Given the description of an element on the screen output the (x, y) to click on. 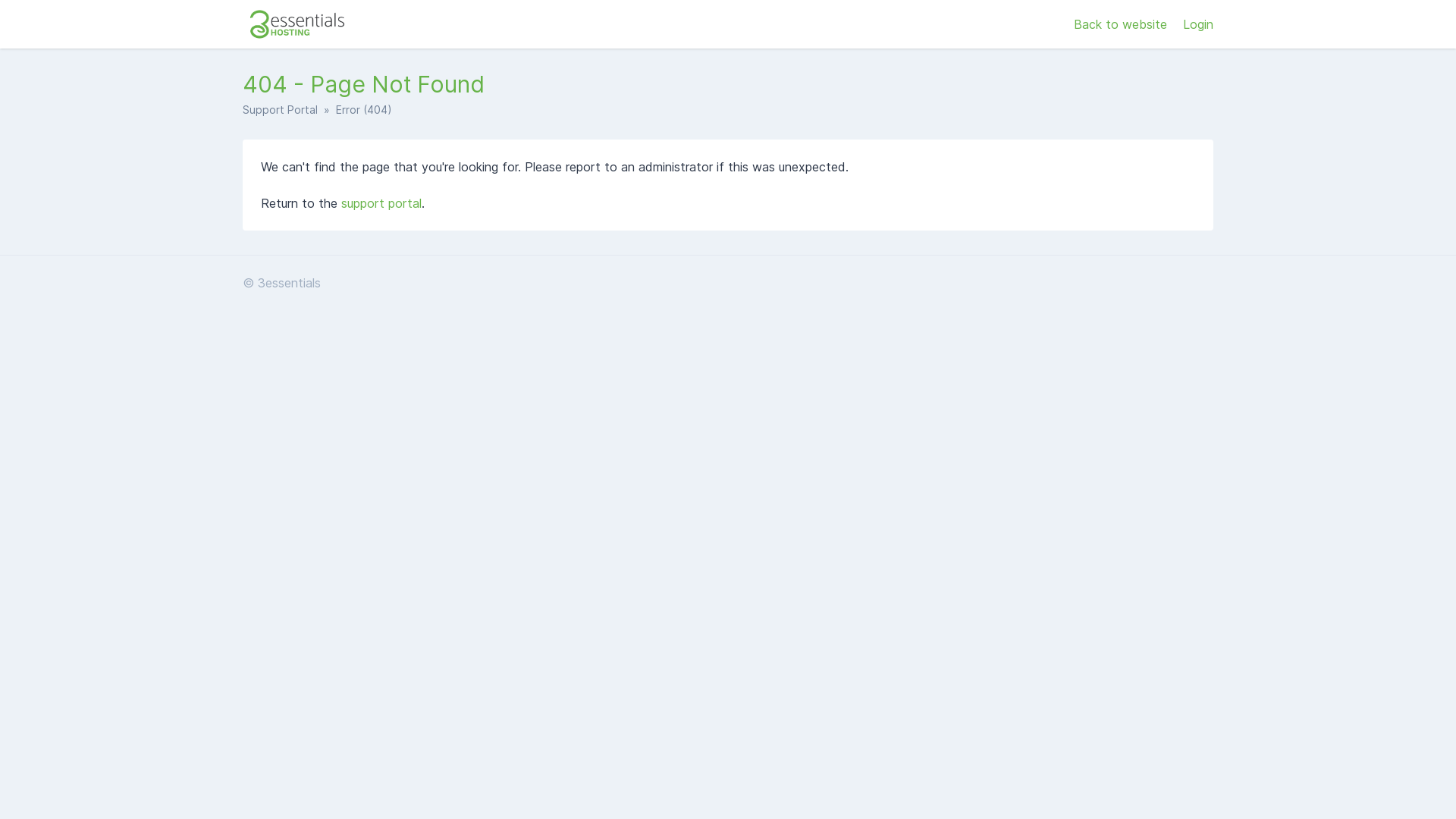
Support Portal Element type: text (279, 109)
Back to website Element type: text (1121, 23)
support portal Element type: text (381, 202)
Login Element type: text (1198, 23)
